Given the description of an element on the screen output the (x, y) to click on. 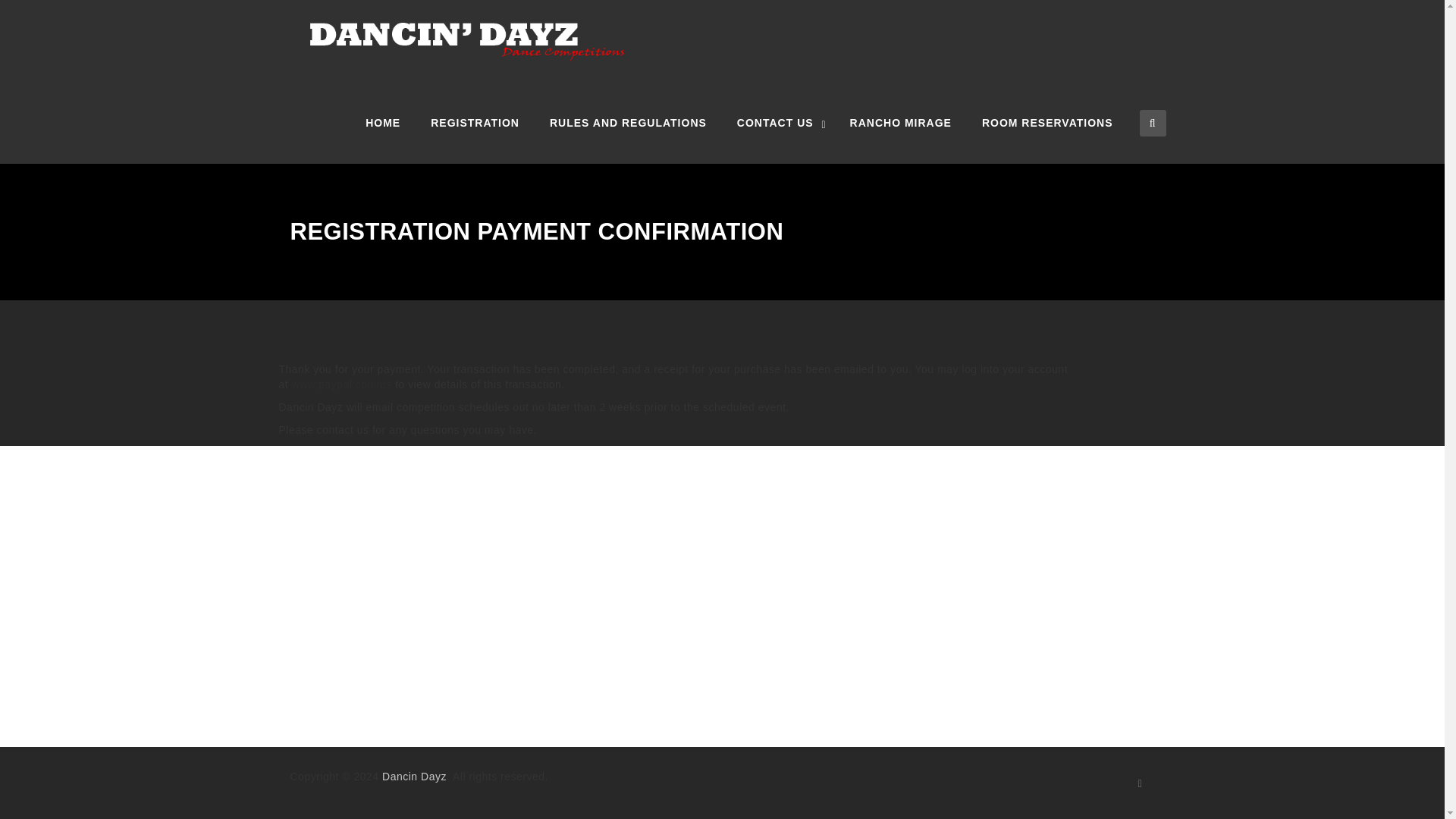
HOME (382, 122)
CONTACT US (778, 122)
Dancin Dayz (579, 40)
ROOM RESERVATIONS (1047, 122)
RANCHO MIRAGE (900, 122)
RULES AND REGULATIONS (628, 122)
REGISTRATION (474, 122)
